Given the description of an element on the screen output the (x, y) to click on. 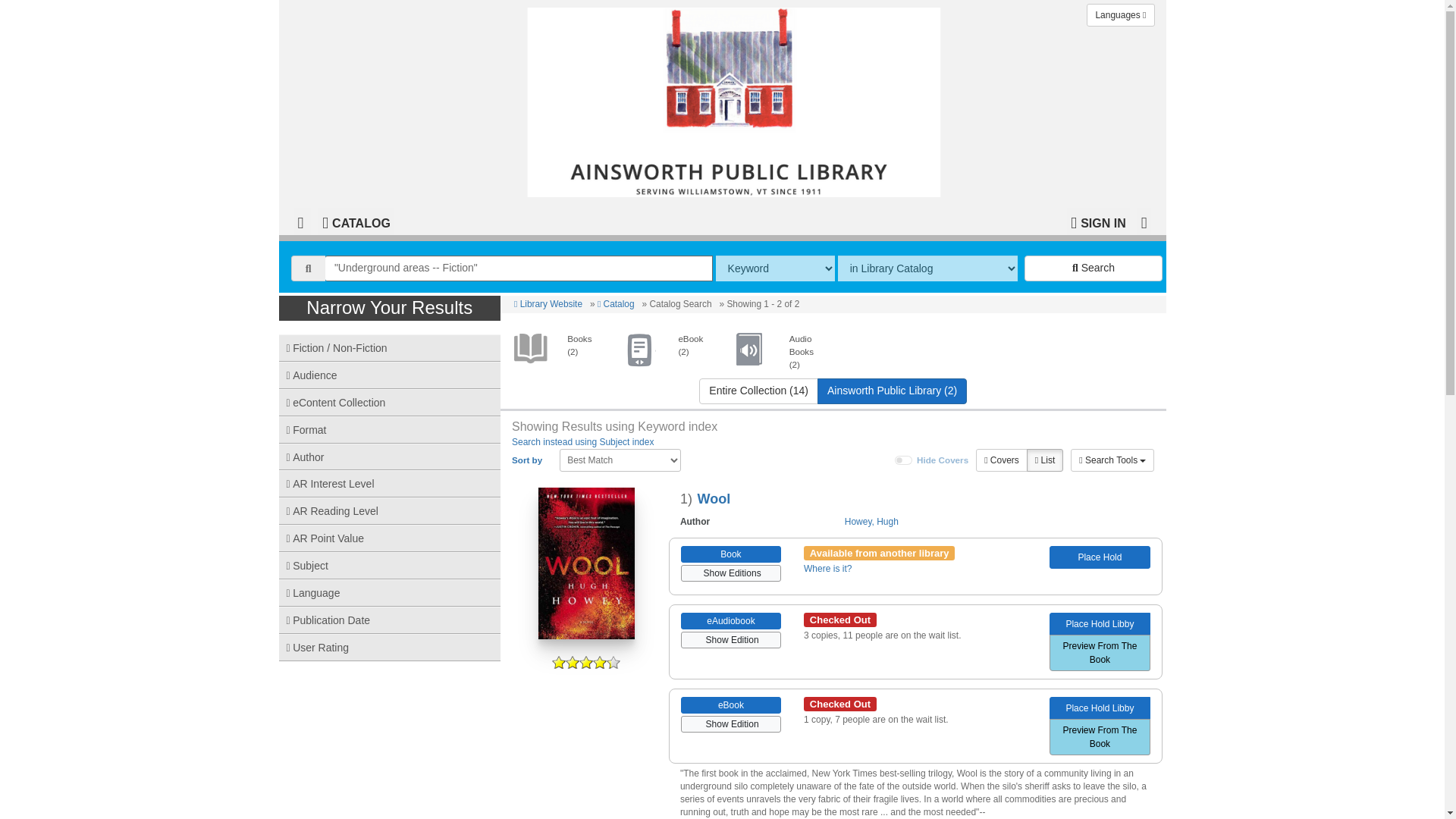
on (903, 460)
Login (1098, 221)
Browse the Catalog (356, 221)
Library Website (547, 303)
 Search (1093, 268)
SIGN IN (1098, 221)
CATALOG (356, 221)
Catalog (615, 303)
Languages  (1120, 15)
"Underground areas -- Fiction" (518, 268)
